Given the description of an element on the screen output the (x, y) to click on. 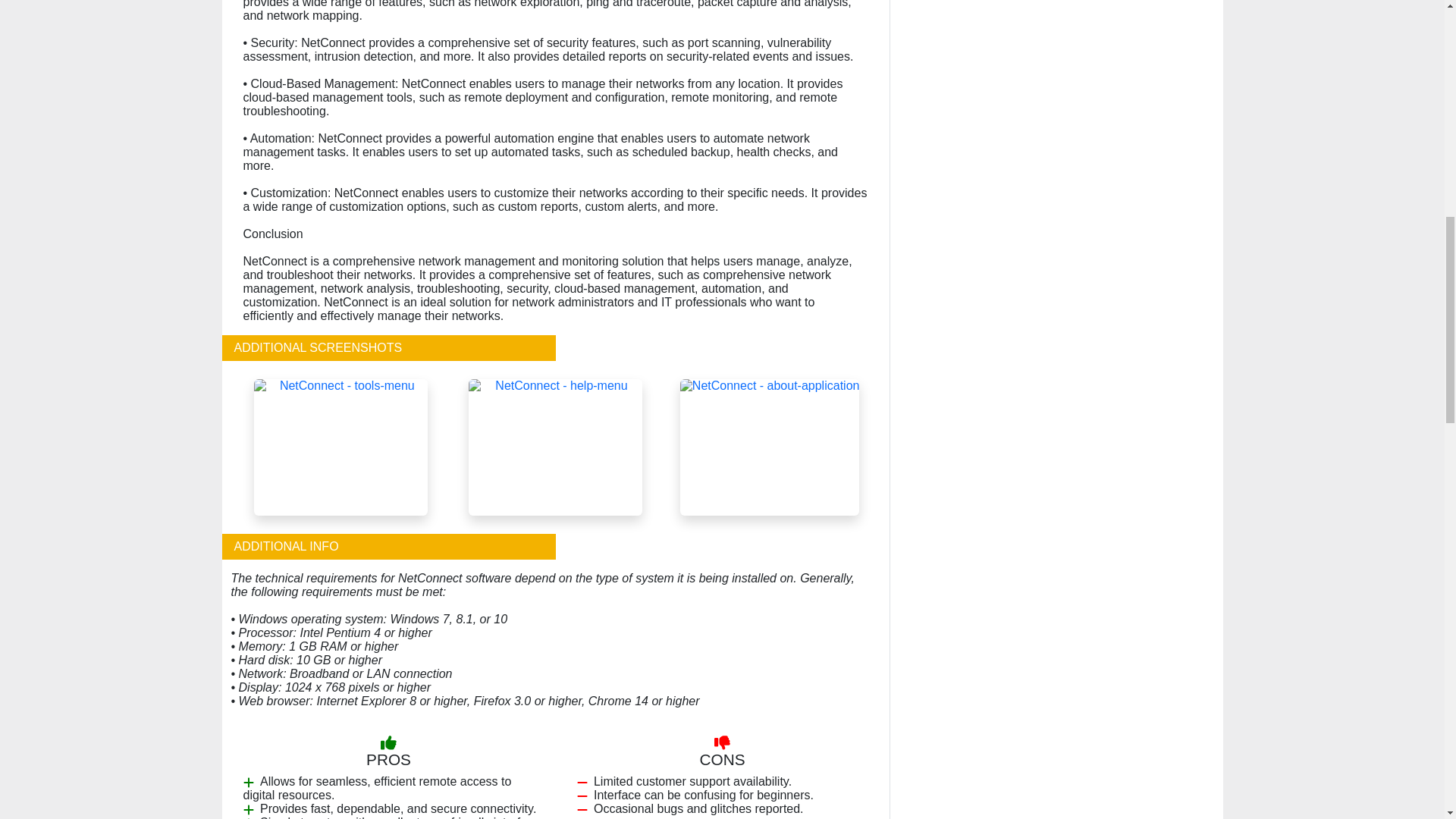
NetConnect - tools-menu (340, 445)
NetConnect - about-application (769, 445)
NetConnect - help-menu (555, 445)
